Given the description of an element on the screen output the (x, y) to click on. 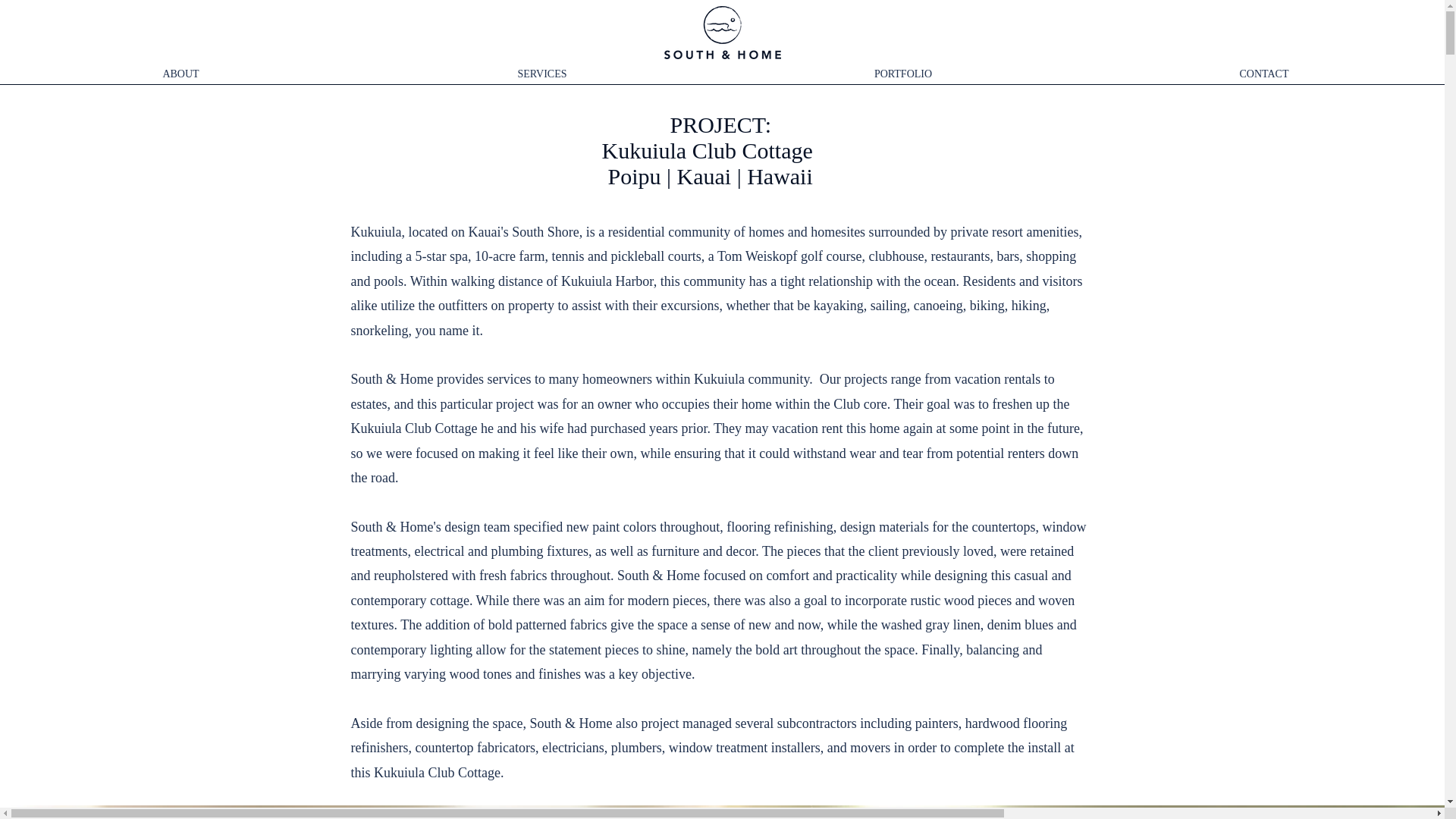
SERVICES (541, 67)
CONTACT (1263, 67)
ABOUT (180, 67)
PORTFOLIO (902, 67)
